Given the description of an element on the screen output the (x, y) to click on. 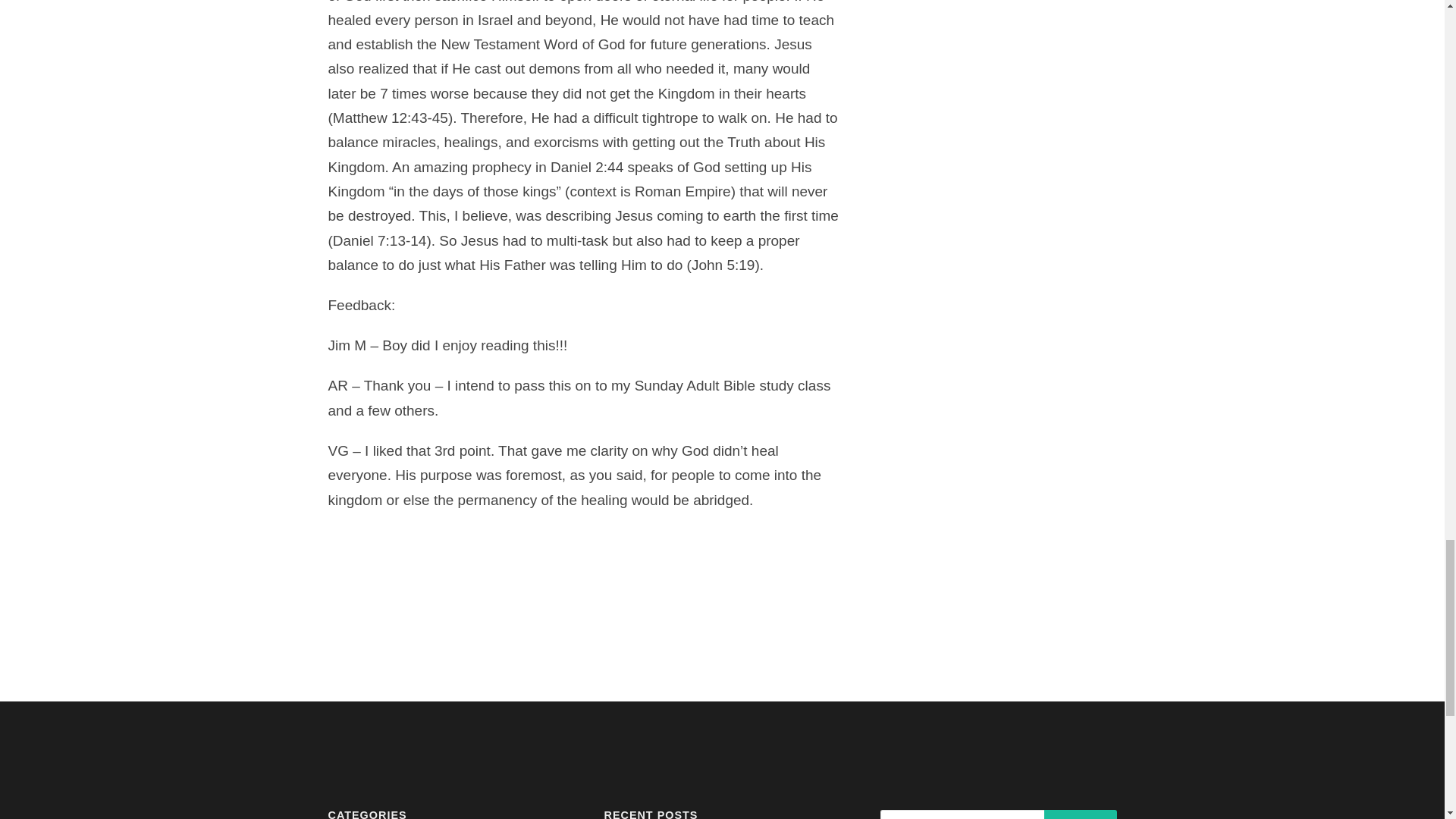
Search (1079, 814)
